Given the description of an element on the screen output the (x, y) to click on. 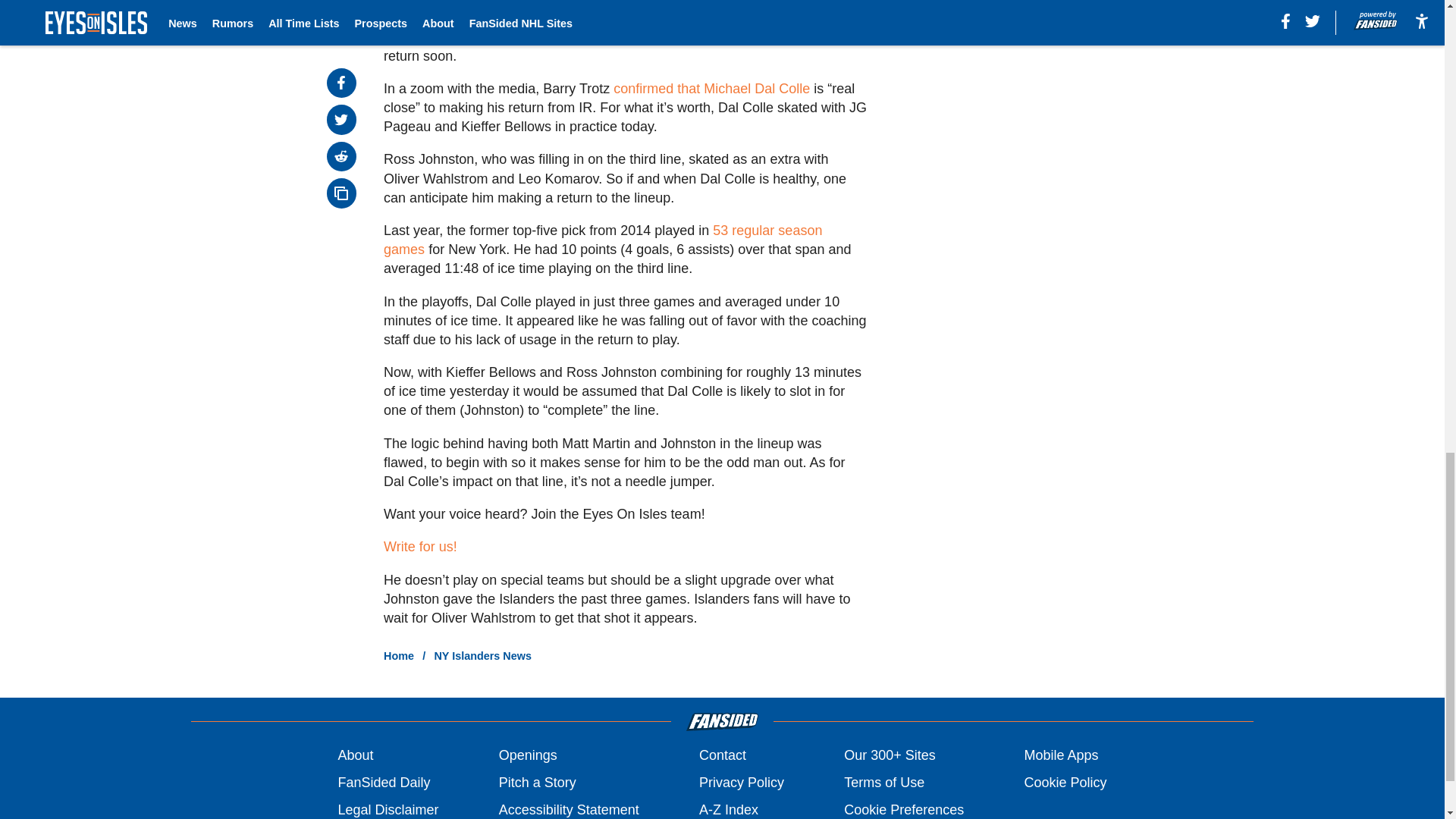
About (354, 754)
Write for us! (420, 546)
53 regular season games (603, 239)
Home (398, 655)
confirmed that Michael Dal Colle (710, 88)
Contact (721, 754)
Mobile Apps (1060, 754)
NY Islanders News (482, 655)
Openings (528, 754)
Michael Dal Colle landed on IR (620, 12)
